Given the description of an element on the screen output the (x, y) to click on. 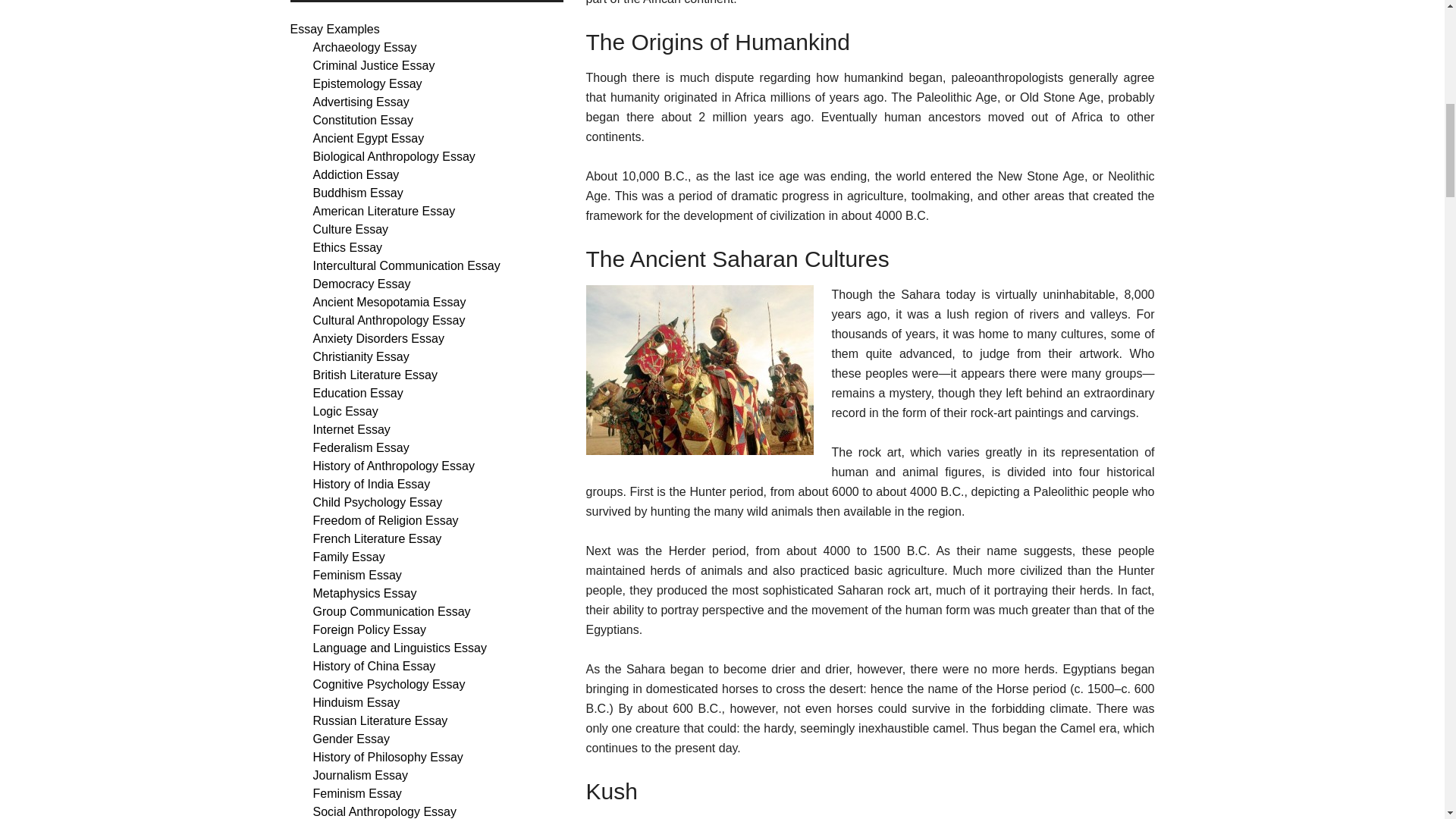
Constitution Essay (363, 119)
Advertising Essay (361, 101)
Ancient Egypt Essay (368, 137)
Criminal Justice Essay (373, 65)
Essay Examples (333, 29)
Archaeology Essay (364, 47)
Epistemology Essay (367, 83)
